Given the description of an element on the screen output the (x, y) to click on. 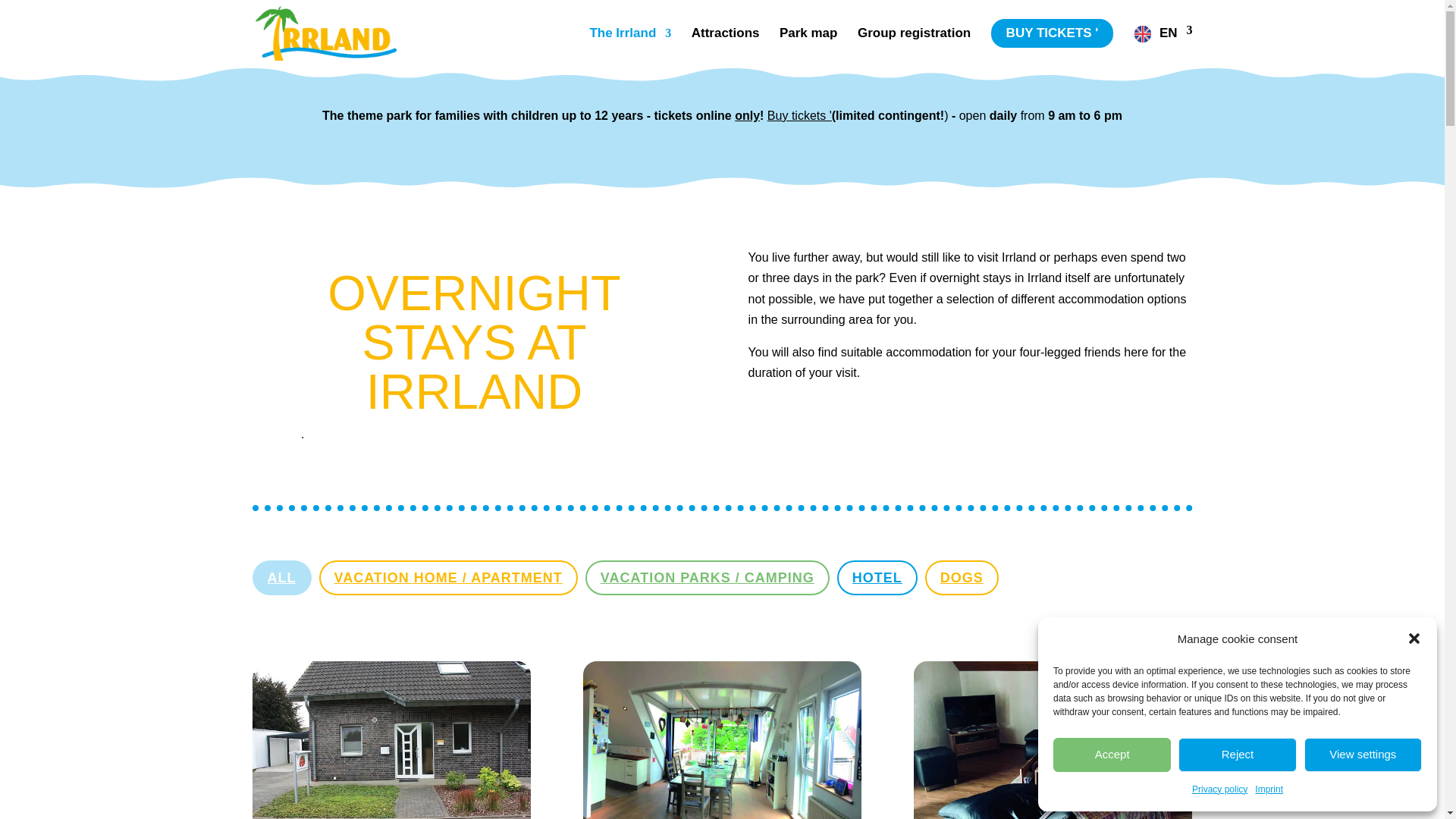
View settings (1363, 754)
Privacy policy (1219, 789)
BUY TICKETS ' (1052, 32)
English (1163, 34)
Accept (1111, 754)
The Irrland (630, 32)
Park map (808, 32)
Attractions (725, 32)
Reject (1236, 754)
Imprint (1268, 789)
Group registration (914, 32)
EN (1163, 34)
